Given the description of an element on the screen output the (x, y) to click on. 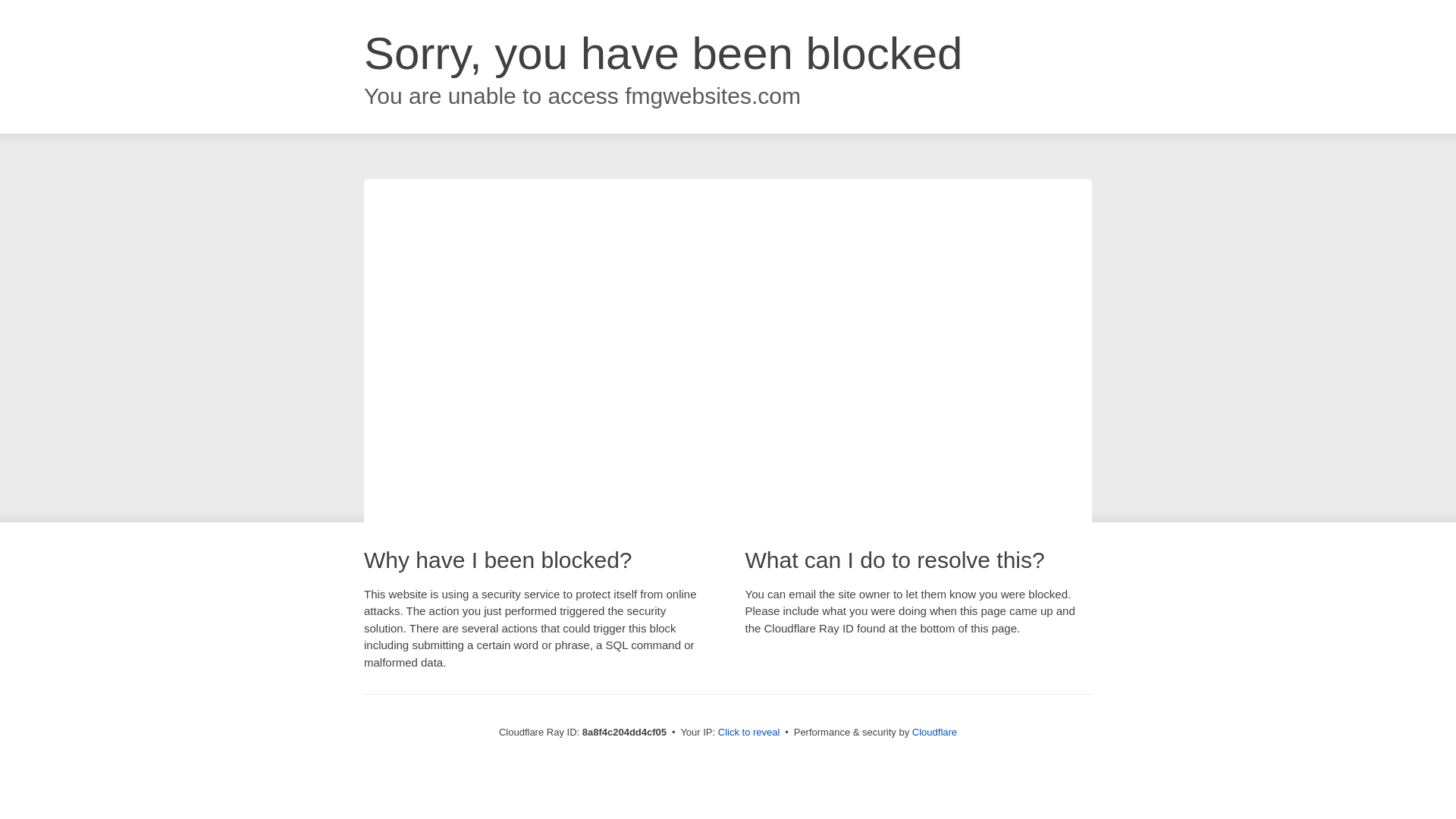
Cloudflare (934, 731)
Click to reveal (748, 732)
